Given the description of an element on the screen output the (x, y) to click on. 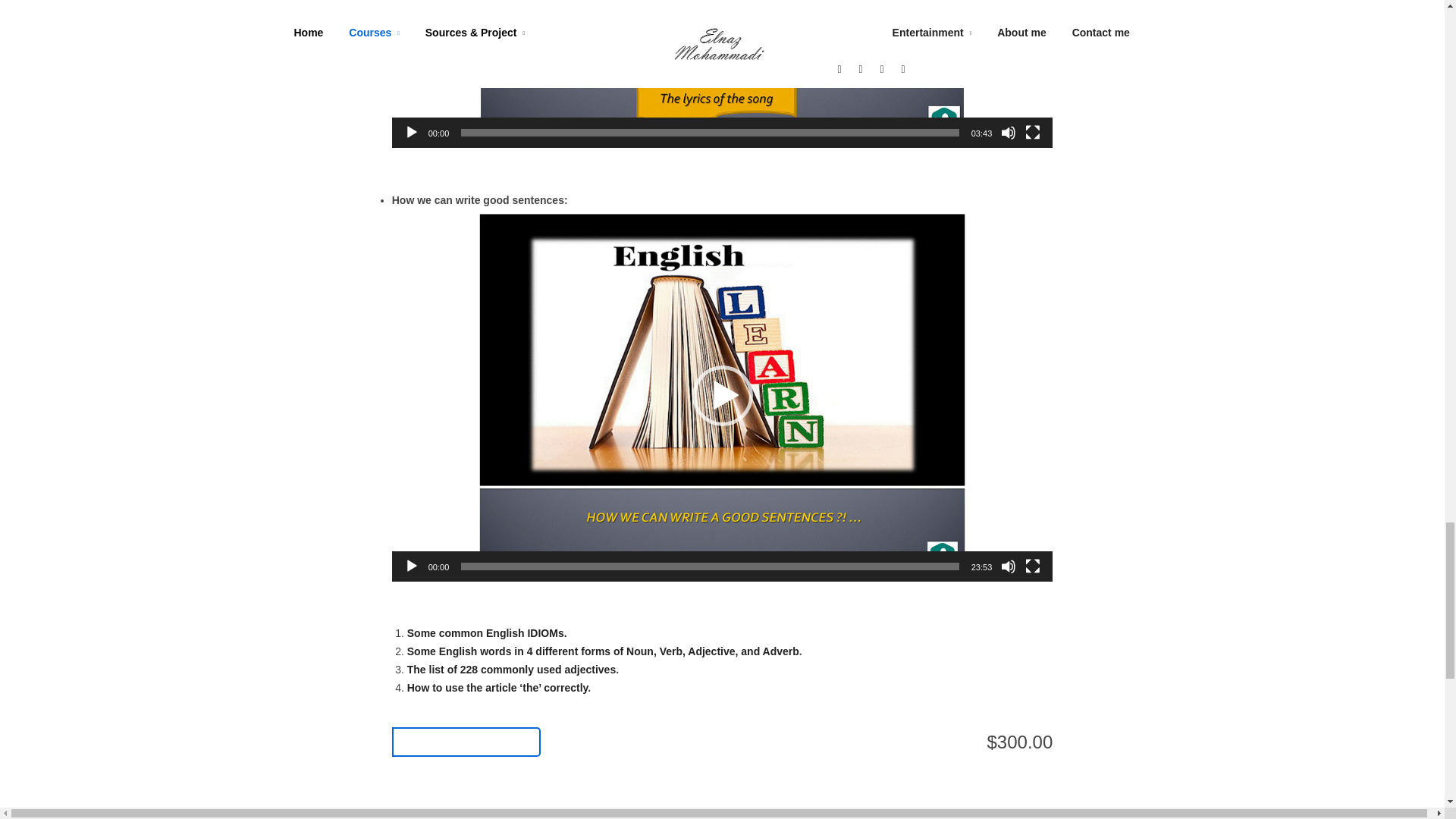
Play (411, 132)
Mute (1008, 132)
Mute (1008, 566)
Play (411, 566)
Fullscreen (1033, 566)
Fullscreen (1033, 132)
